Given the description of an element on the screen output the (x, y) to click on. 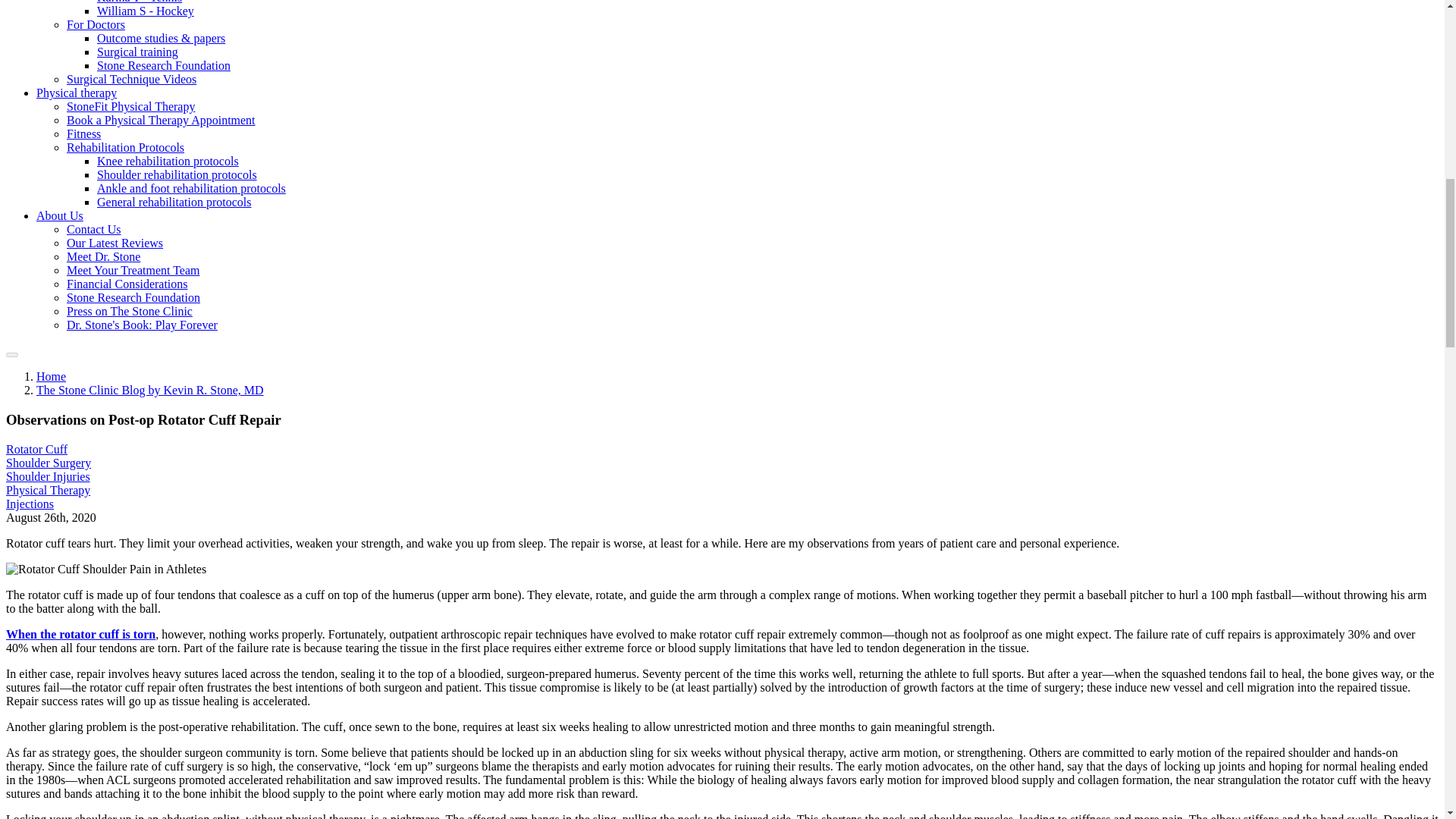
Physical therapy (76, 92)
